Given the description of an element on the screen output the (x, y) to click on. 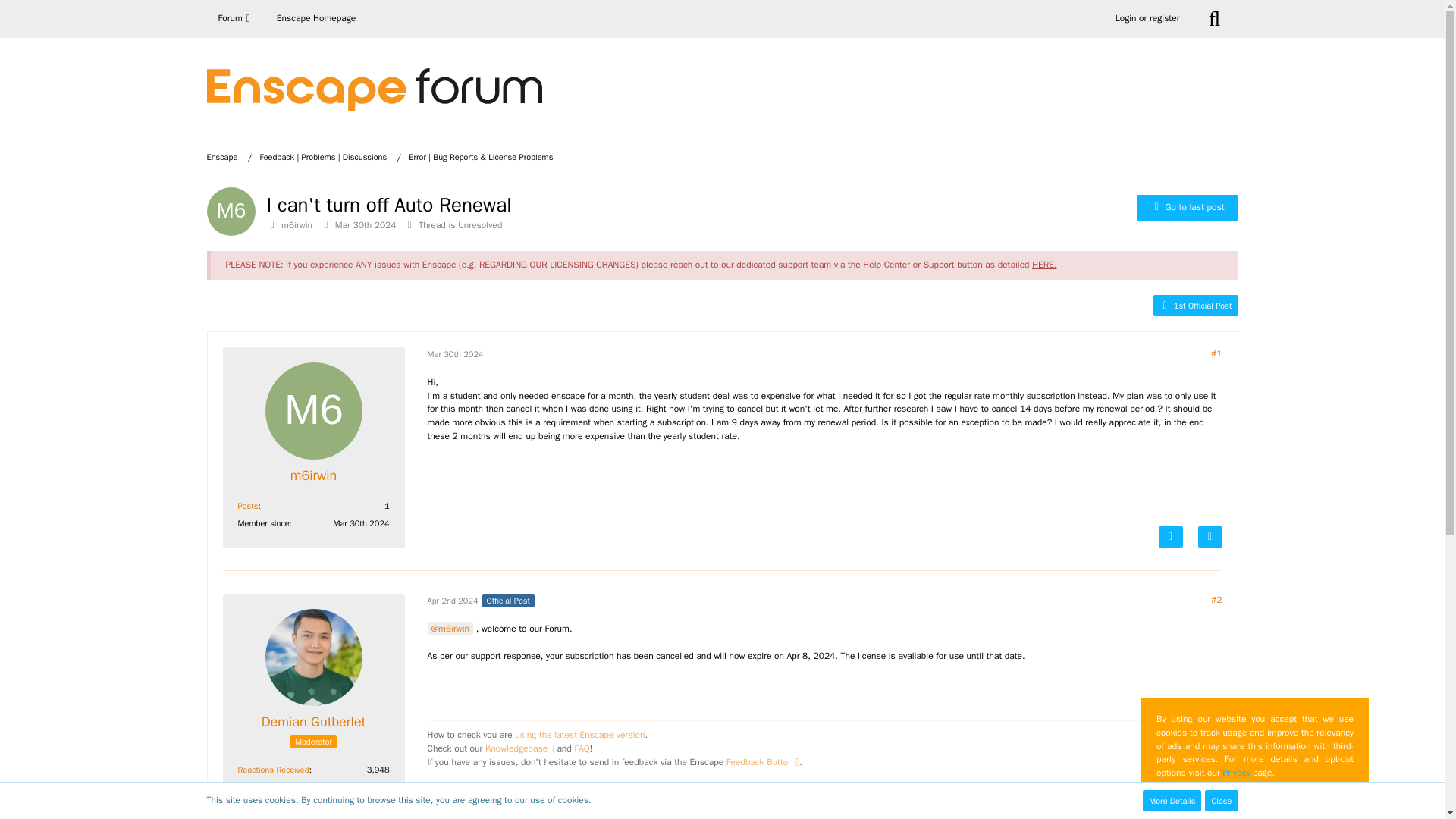
HERE. (1044, 264)
Feedback Button (762, 761)
Posts (248, 505)
1st Official Post (1195, 305)
Knowledgebase (519, 748)
Jump to last post (1188, 207)
FAQ (581, 748)
Reactions Received (273, 769)
m6irwin (297, 224)
Demian Gutberlet (314, 722)
